Given the description of an element on the screen output the (x, y) to click on. 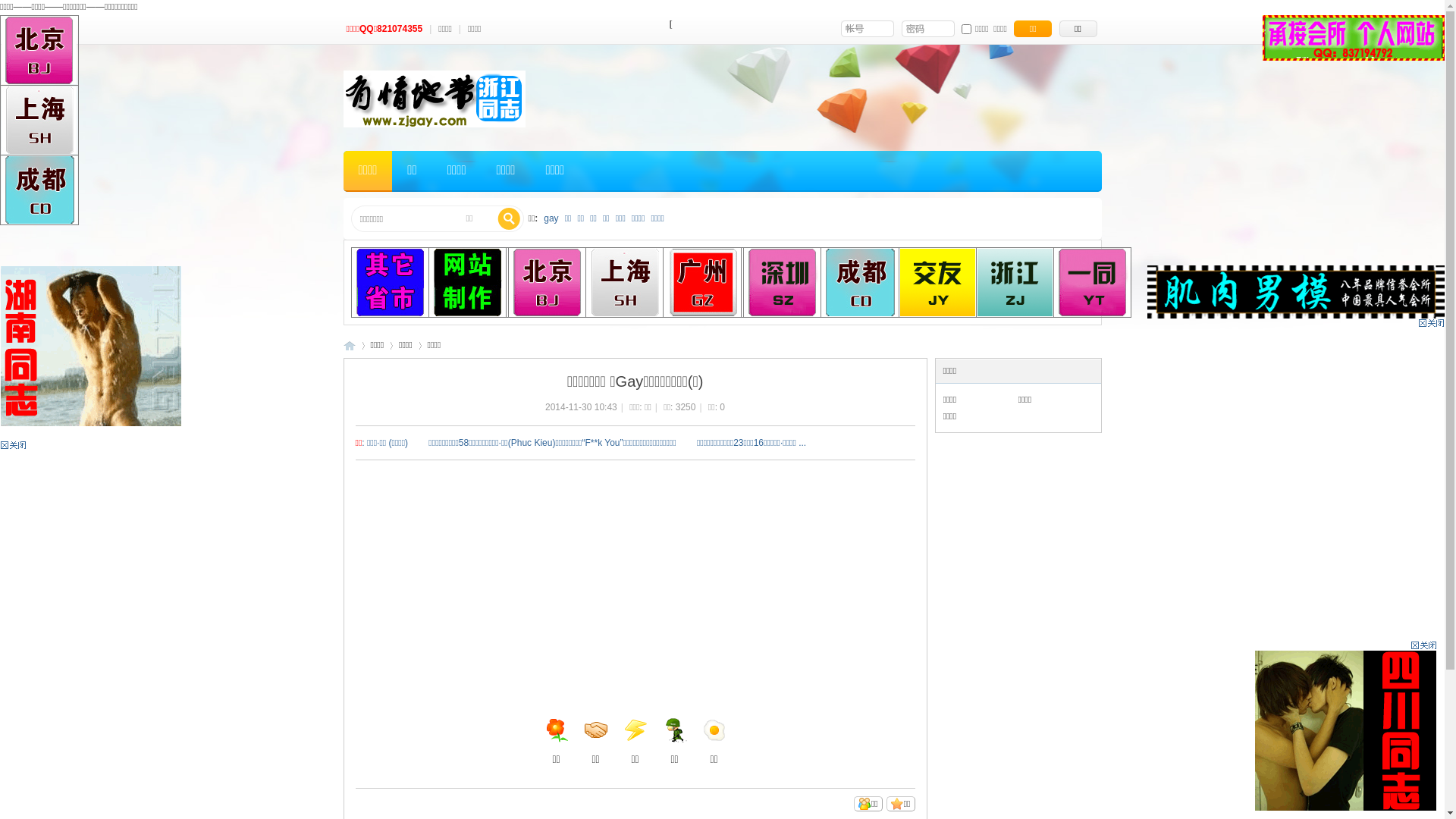
gay Element type: text (550, 218)
true Element type: text (508, 218)
